Given the description of an element on the screen output the (x, y) to click on. 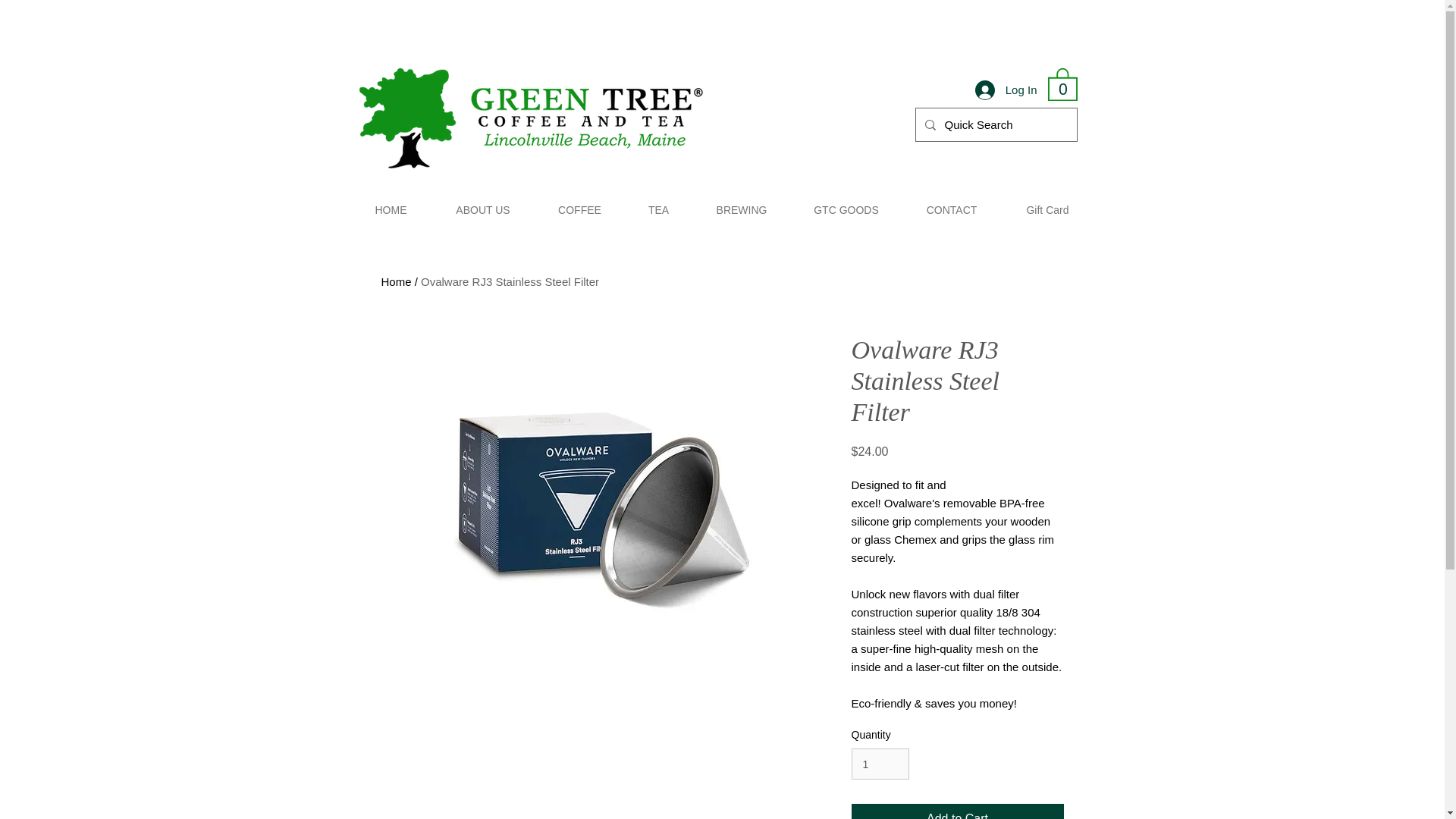
CONTACT (951, 210)
Logo.jpg (530, 121)
1 (879, 763)
COFFEE (579, 210)
BREWING (741, 210)
Log In (1005, 90)
GTC GOODS (845, 210)
Add to Cart (956, 811)
Home (395, 281)
TEA (658, 210)
HOME (390, 210)
ABOUT US (482, 210)
Gift Card (1047, 210)
Ovalware RJ3 Stainless Steel Filter (509, 281)
